Given the description of an element on the screen output the (x, y) to click on. 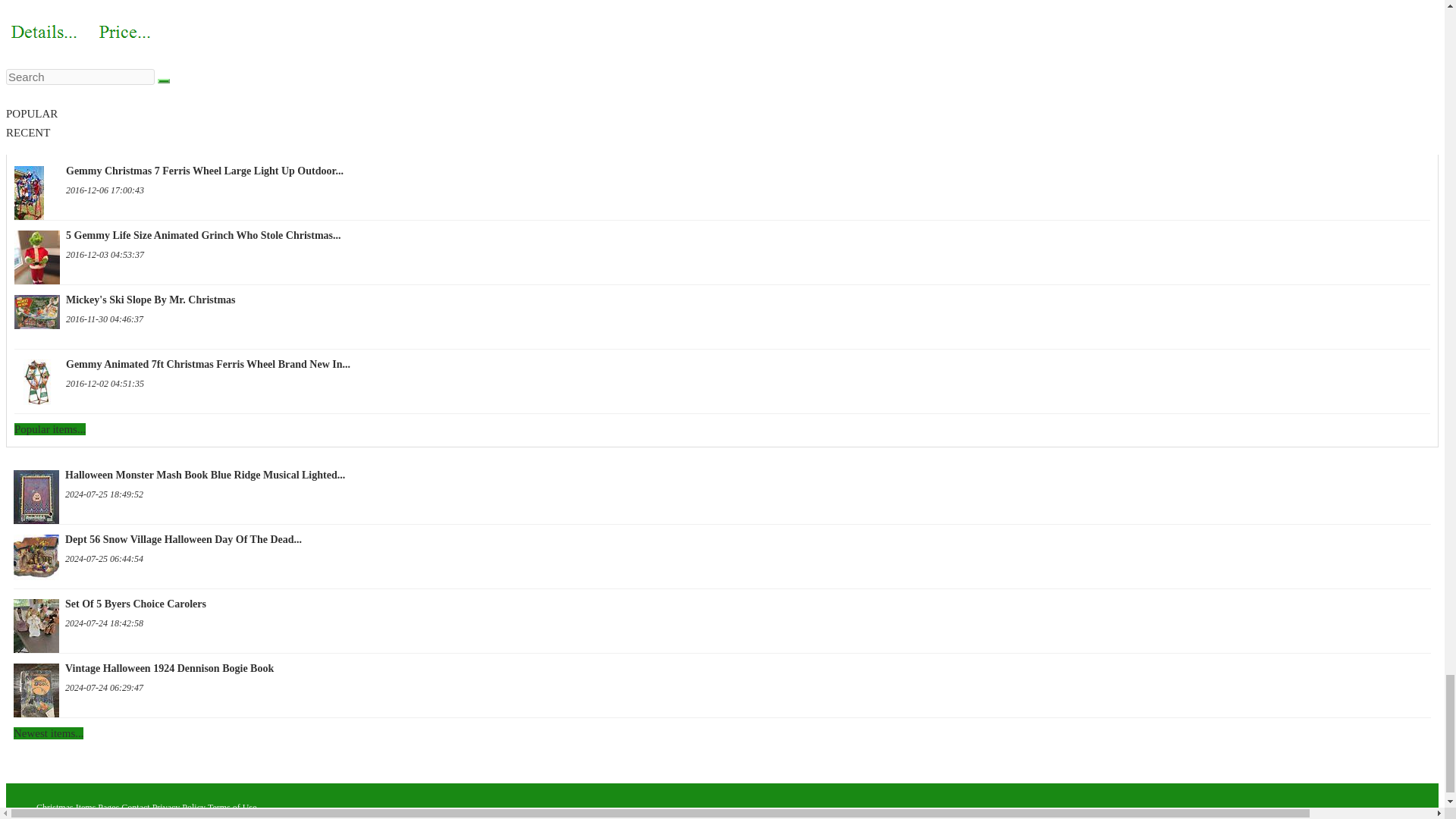
Mickey's Ski Slope By Mr. Christmas (721, 300)
Mickey's Ski Slope By Mr. Christmas (36, 315)
